Given the description of an element on the screen output the (x, y) to click on. 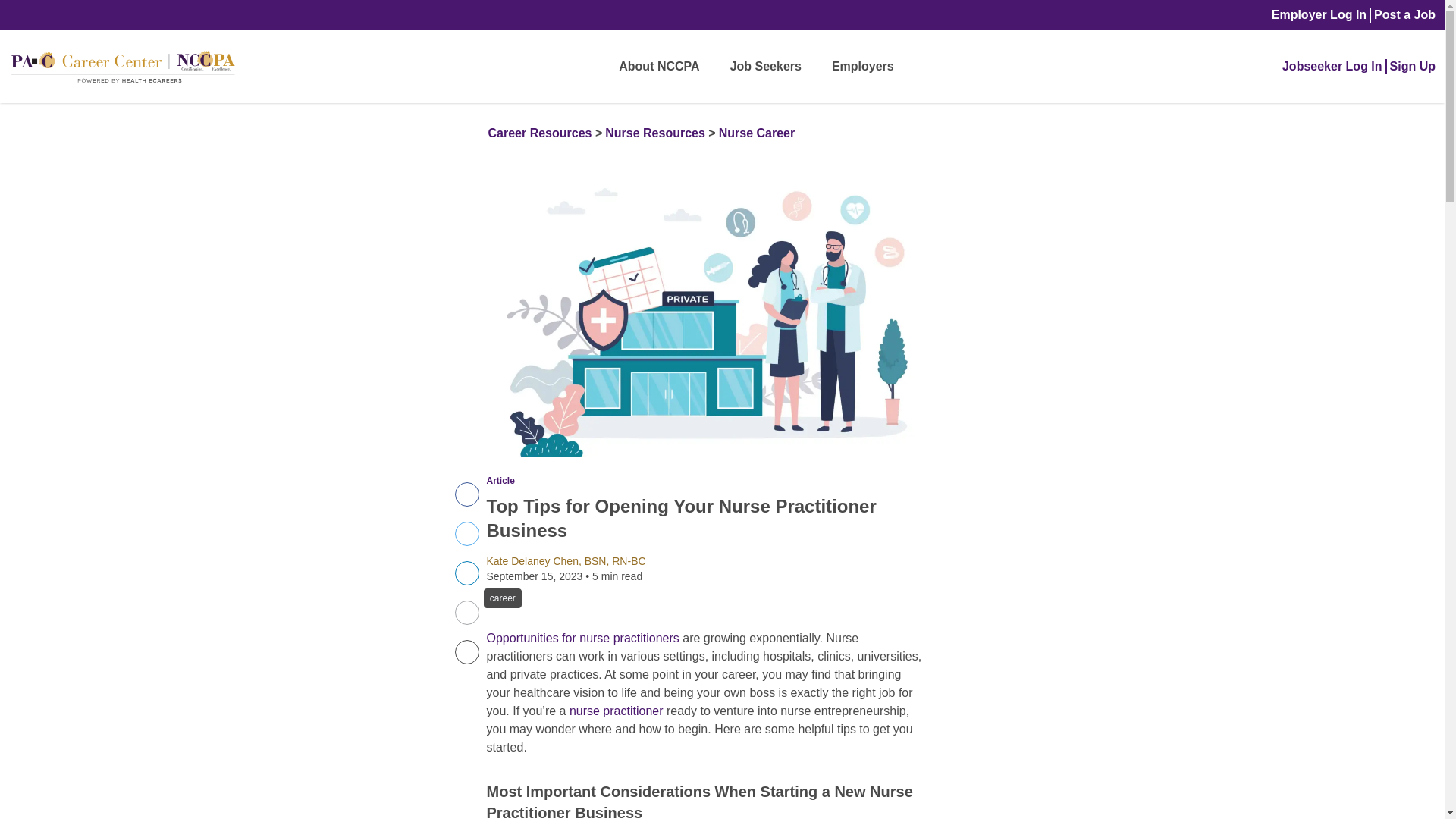
About NCCPA (658, 66)
Career Resources (466, 494)
Nurse Resources (539, 132)
Post a Job (654, 132)
Job Seekers (1404, 14)
Nurse Career (766, 66)
Kate Delaney Chen, BSN, RN-BC (756, 132)
